Given the description of an element on the screen output the (x, y) to click on. 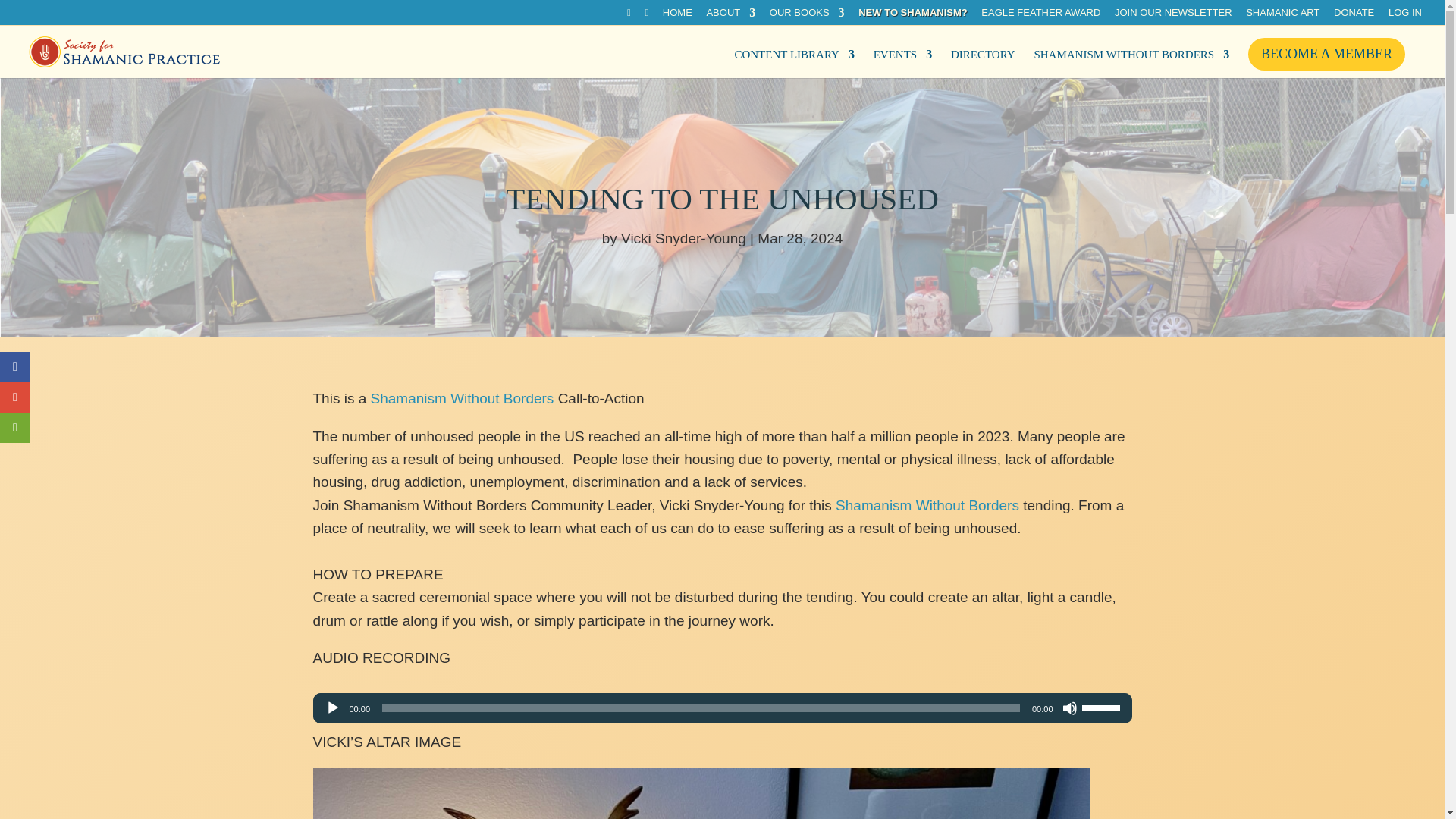
ABOUT (730, 16)
Mute (1069, 708)
Play (331, 708)
EAGLE FEATHER AWARD (1040, 16)
CONTENT LIBRARY (793, 59)
LOG IN (1405, 16)
DONATE (1353, 16)
HOME (677, 16)
SHAMANIC ART (1282, 16)
Posts by Vicki Snyder-Young (683, 238)
